Given the description of an element on the screen output the (x, y) to click on. 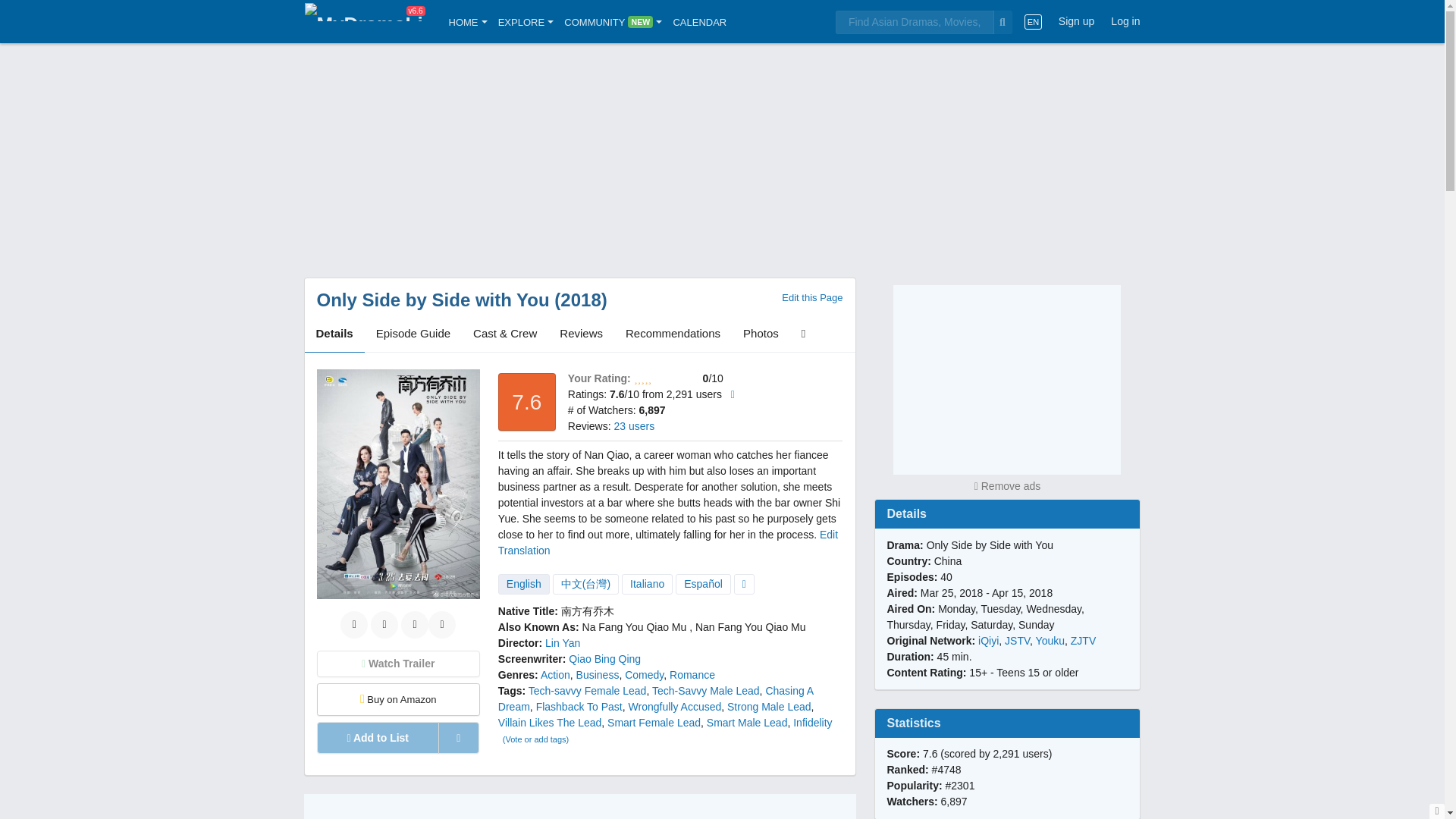
v6.6 (364, 21)
Nan Fang You Qiao Mu (750, 626)
Na Fang You Qiao Mu (634, 626)
HOME (467, 21)
Only Side by Side with You (433, 299)
